Given the description of an element on the screen output the (x, y) to click on. 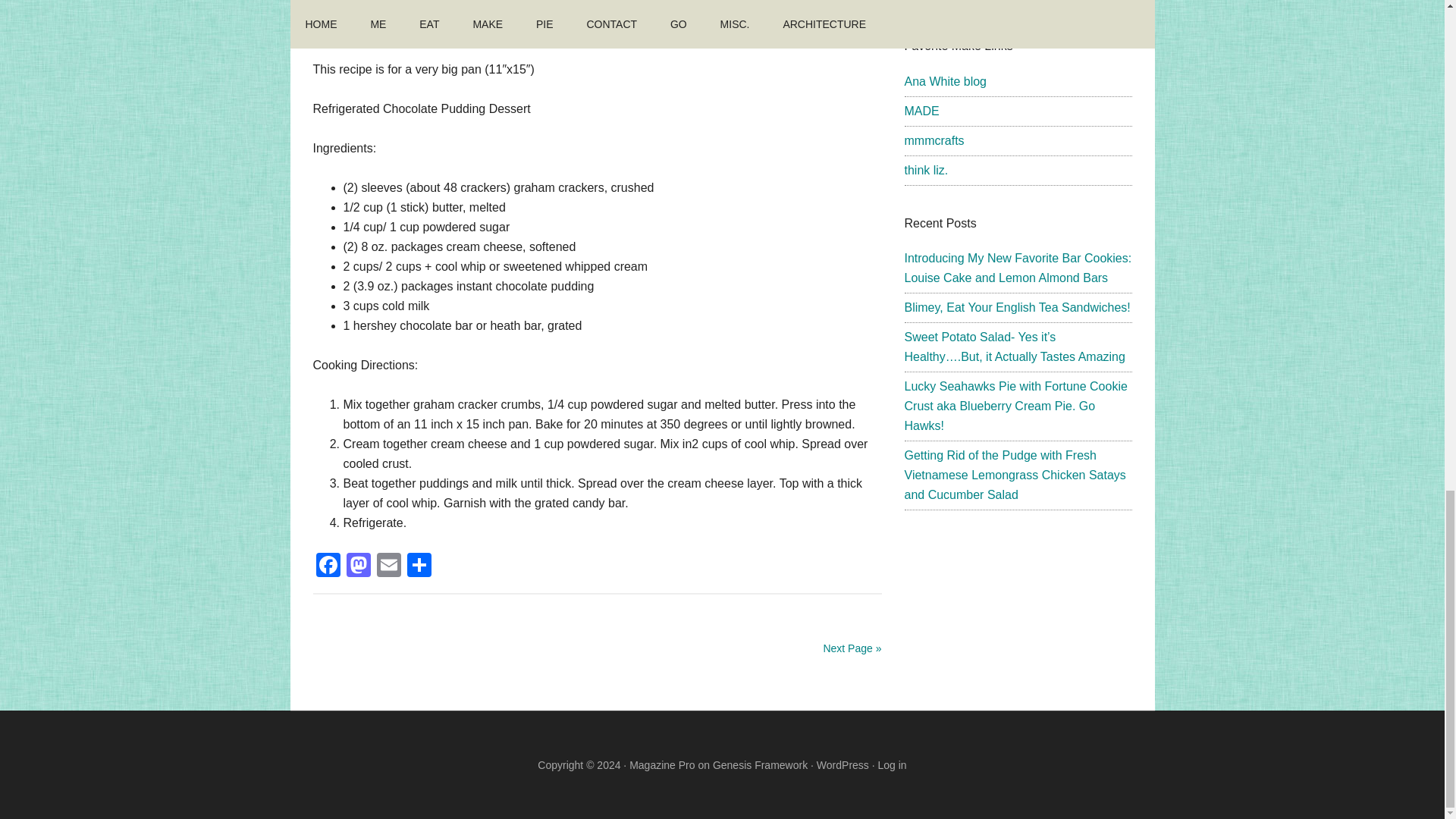
Facebook (327, 566)
Ana White blog (945, 81)
think liz. (925, 169)
Share (418, 566)
MADE (921, 110)
Blimey, Eat Your English Tea Sandwiches! (1016, 307)
mmmcrafts (933, 140)
Email (387, 566)
Mastodon (357, 566)
Email (387, 566)
Facebook (327, 566)
Mastodon (357, 566)
